Given the description of an element on the screen output the (x, y) to click on. 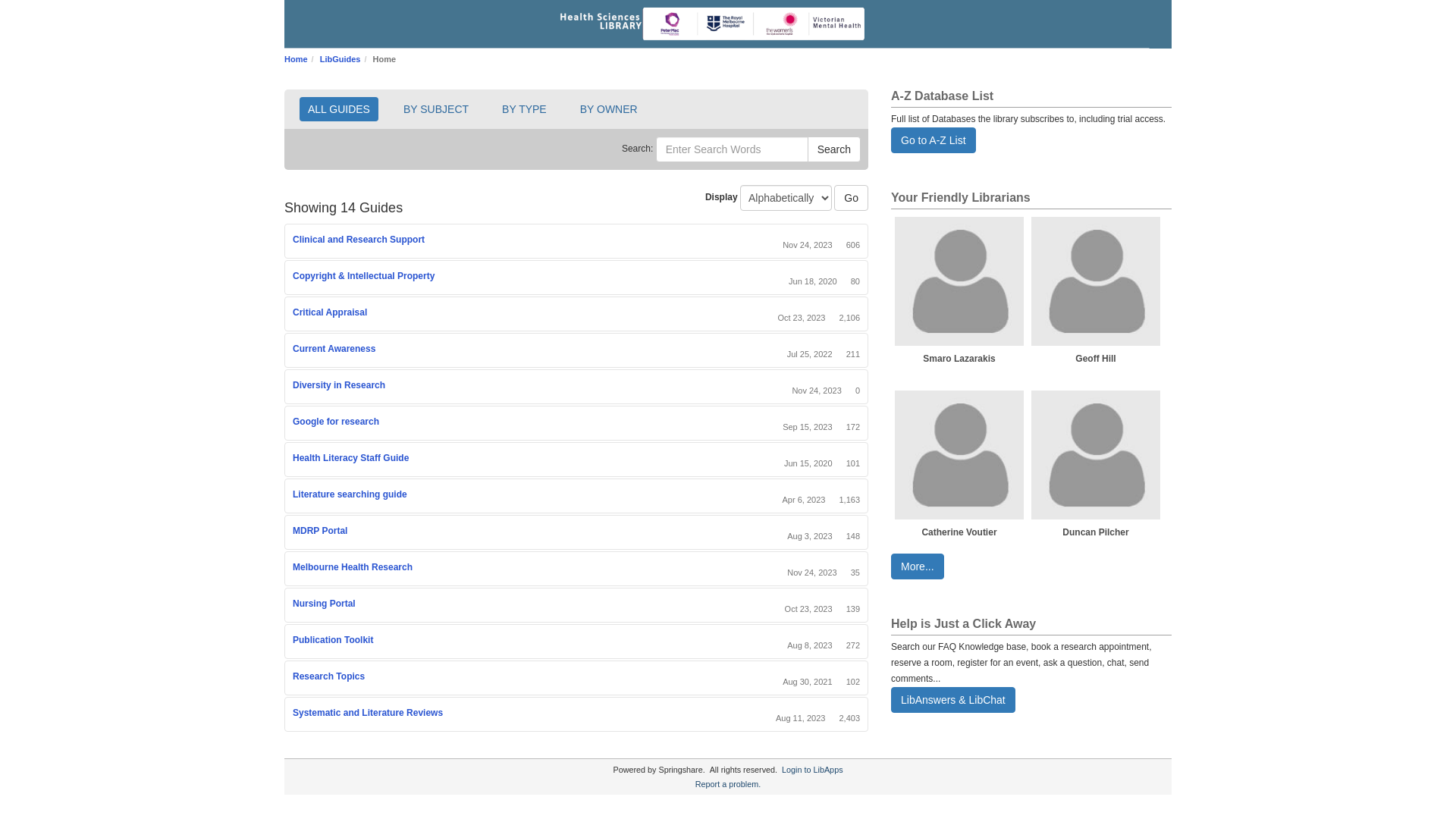
Research Topics Element type: text (328, 676)
Health Literacy Staff Guide Element type: text (350, 457)
Search Element type: text (833, 149)
Geoff Hill Element type: text (1095, 290)
View Guide Info Element type: text (392, 385)
Melbourne Health Research Element type: text (352, 566)
View Guide Info Element type: text (375, 312)
Systematic and Literature Reviews Element type: text (367, 712)
View Guide Info Element type: text (383, 349)
More... Element type: text (917, 566)
Critical Appraisal Element type: text (329, 312)
Catherine Voutier Element type: text (958, 463)
View Guide Info Element type: text (416, 458)
View Guide Info Element type: text (362, 604)
LibAnswers & LibChat Element type: text (953, 699)
View Guide Info Element type: text (431, 240)
LibGuides Element type: text (340, 58)
Duncan Pilcher Element type: text (1095, 463)
ALL GUIDES Element type: text (338, 109)
View Guide Info Element type: text (419, 567)
View Guide Info Element type: text (381, 640)
Home Element type: text (295, 58)
Diversity in Research Element type: text (338, 384)
Go Element type: text (851, 197)
BY TYPE Element type: text (524, 109)
BY OWNER Element type: text (608, 109)
View Guide Info Element type: text (355, 531)
Go to A-Z List Element type: text (933, 140)
MDRP Portal Element type: text (319, 530)
Current Awareness Element type: text (333, 348)
View Guide Info Element type: text (414, 494)
Copyright & Intellectual Property Element type: text (363, 275)
View Guide Info Element type: text (442, 276)
Login to LibApps Element type: text (811, 769)
Literature searching guide Element type: text (349, 494)
Publication Toolkit Element type: text (332, 639)
View Guide Info Element type: text (372, 676)
View Guide Info Element type: text (386, 422)
Google for research Element type: text (335, 421)
View Guide Info Element type: text (450, 713)
Clinical and Research Support Element type: text (358, 239)
BY SUBJECT Element type: text (435, 109)
Report a problem. Element type: text (727, 783)
Smaro Lazarakis Element type: text (958, 290)
Nursing Portal Element type: text (323, 603)
